Given the description of an element on the screen output the (x, y) to click on. 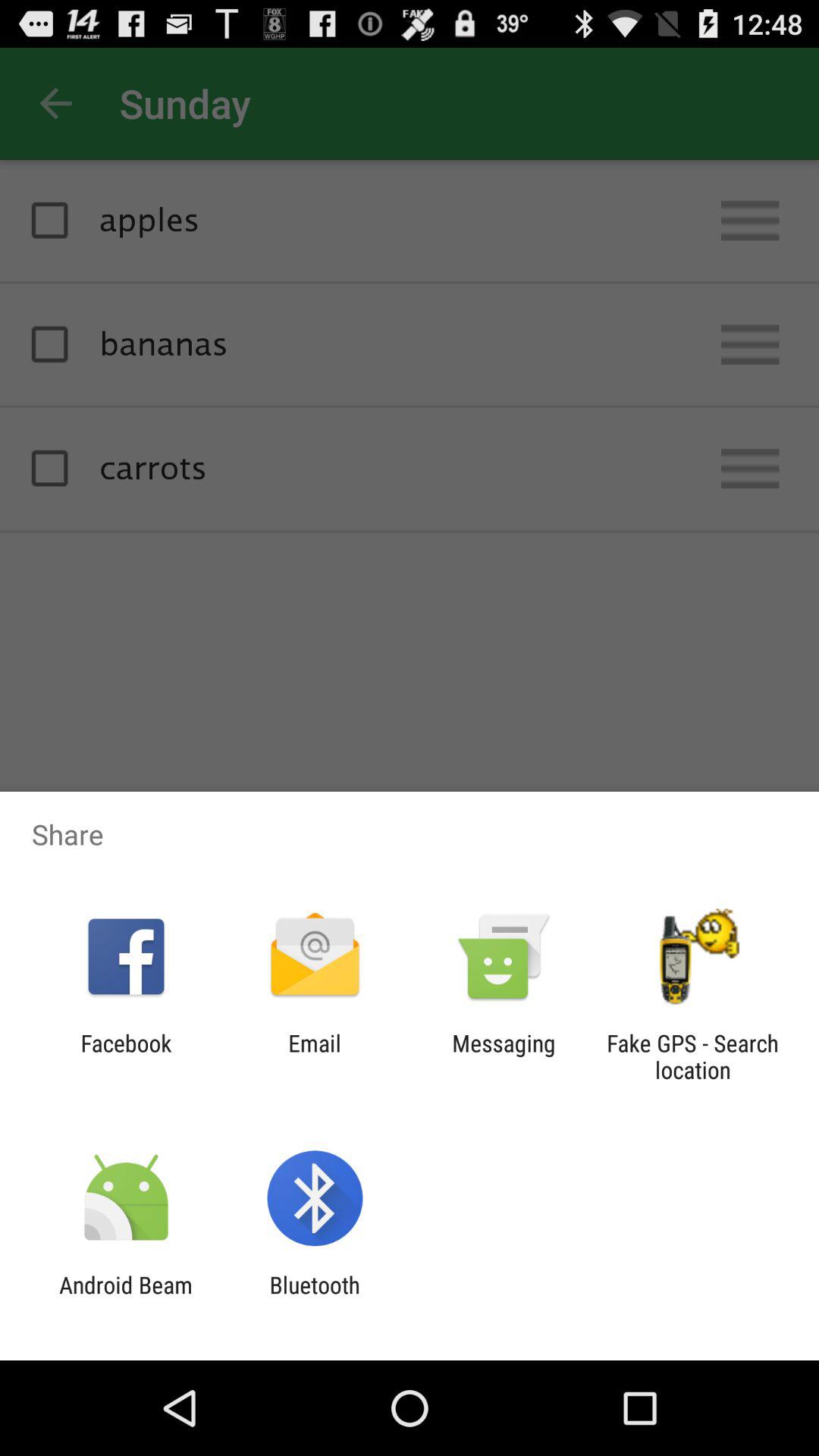
select app next to android beam app (314, 1298)
